Given the description of an element on the screen output the (x, y) to click on. 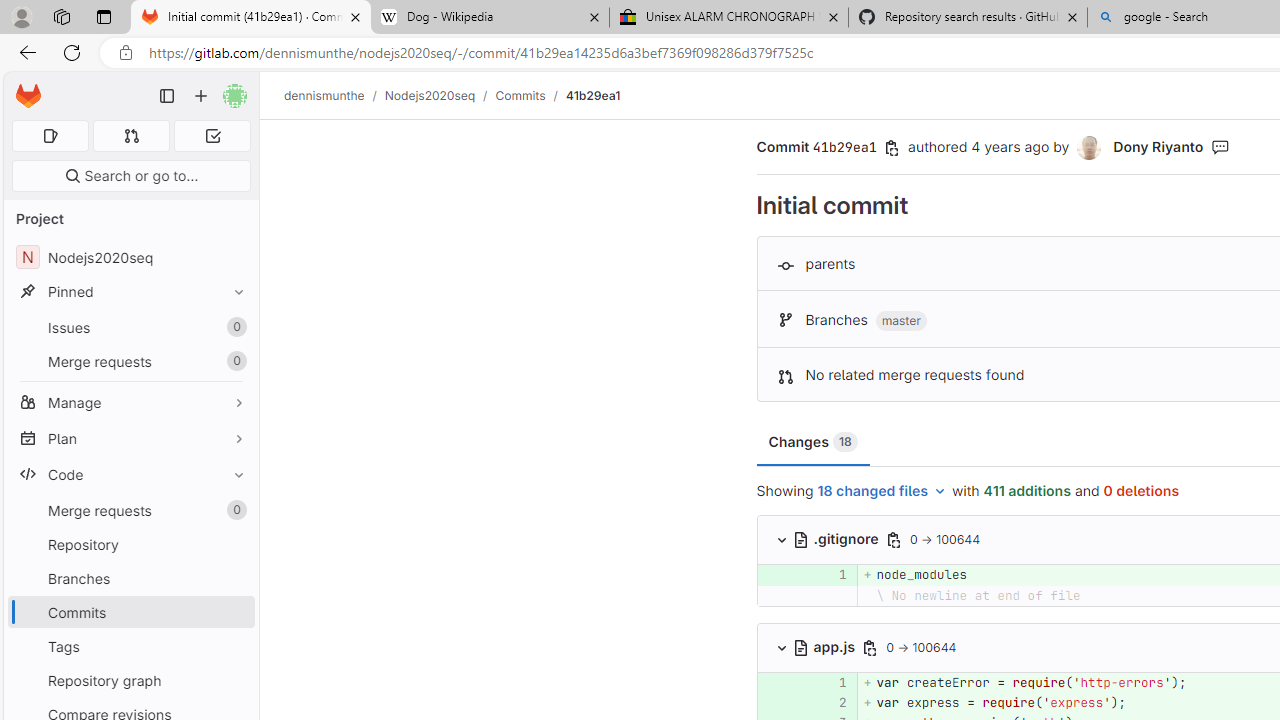
dennismunthe (324, 95)
Repository (130, 543)
Nodejs2020seq (430, 95)
app.js  (825, 646)
Dony Riyanto (1158, 146)
Pin Repository (234, 544)
Manage (130, 402)
Tags (130, 646)
Repository (130, 543)
Copy file path (870, 647)
Tags (130, 646)
Commits/ (530, 95)
Add a comment to this line  (781, 701)
